Given the description of an element on the screen output the (x, y) to click on. 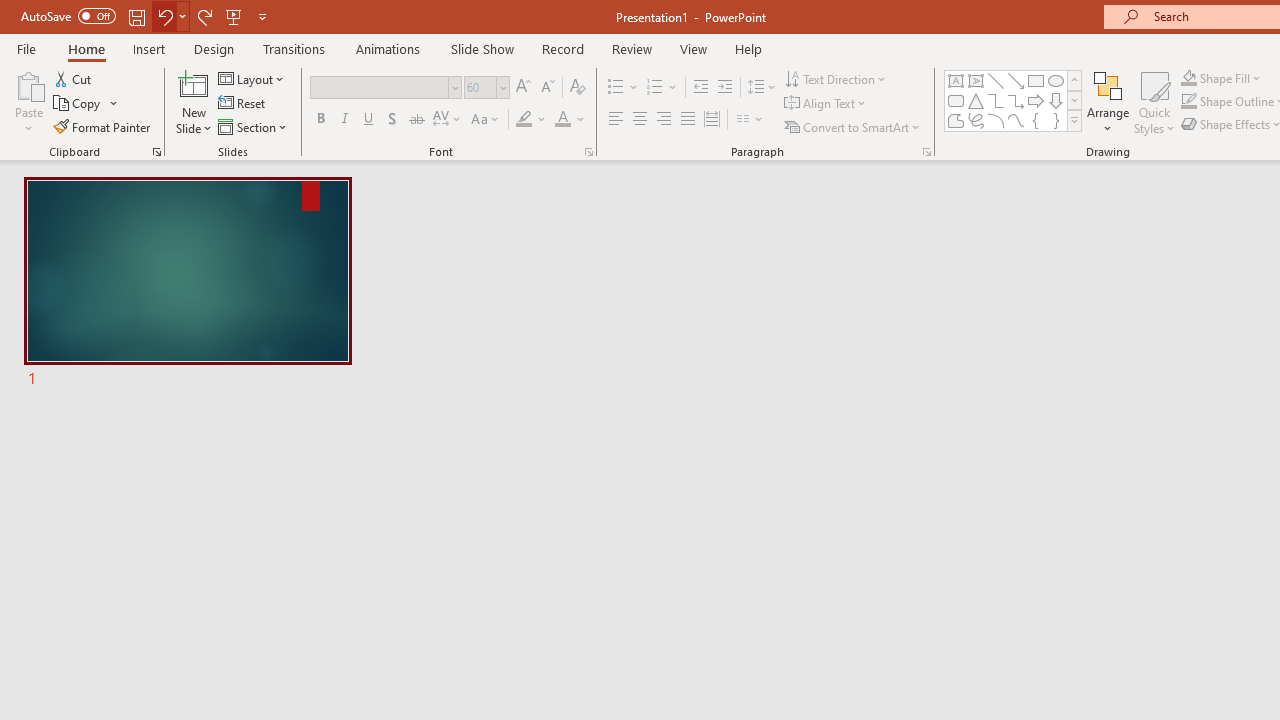
Shape Fill Orange, Accent 2 (1188, 78)
